Given the description of an element on the screen output the (x, y) to click on. 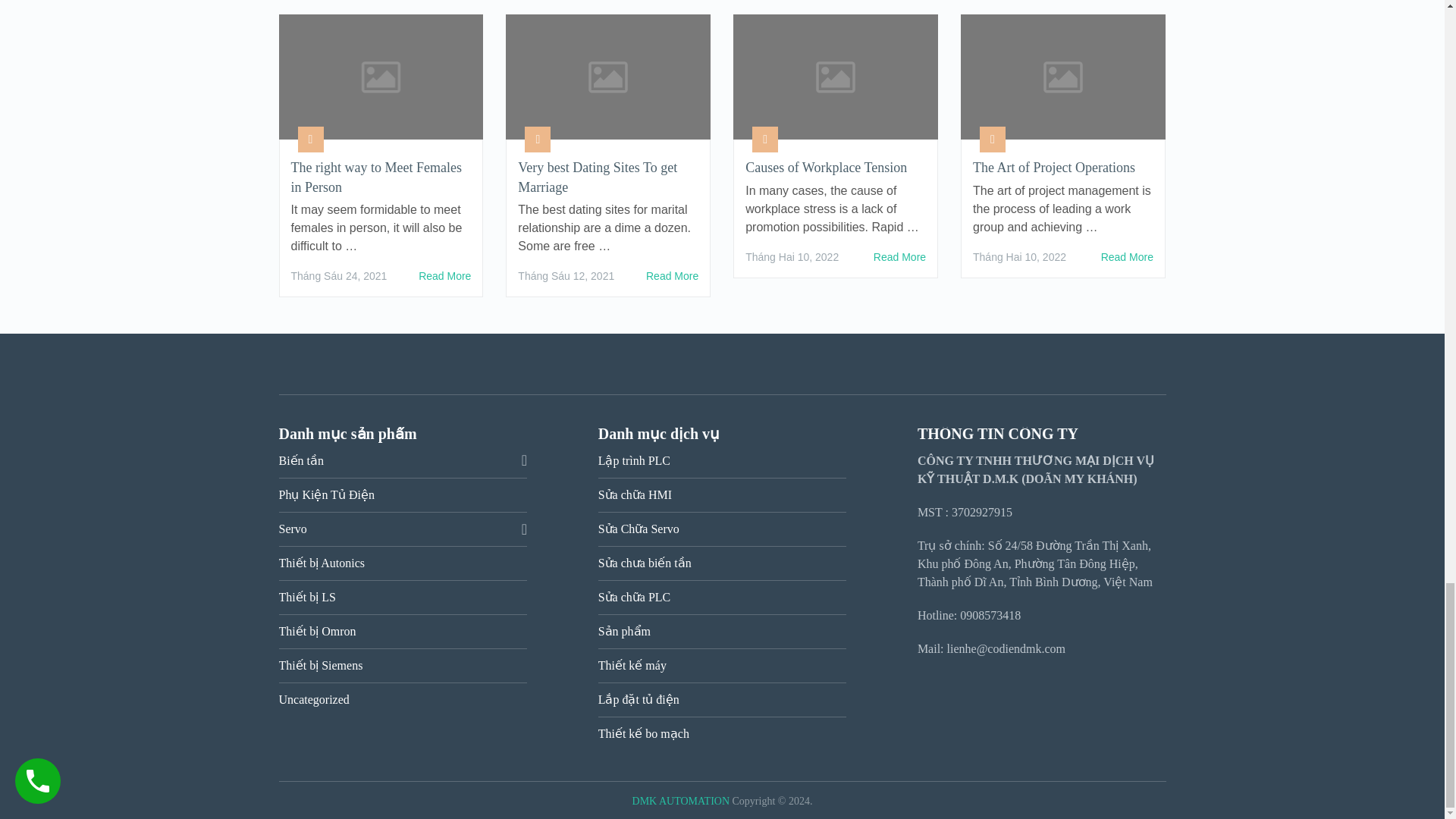
Causes of Workplace Tension (835, 167)
Very best Dating Sites To get Marriage (608, 177)
The Art of Project Operations (1126, 257)
The Art of Project Operations (1062, 167)
The right way to Meet Females in Person (444, 275)
Very best Dating Sites To get Marriage (672, 275)
Causes of Workplace Tension (899, 257)
The right way to Meet Females in Person (381, 177)
